Given the description of an element on the screen output the (x, y) to click on. 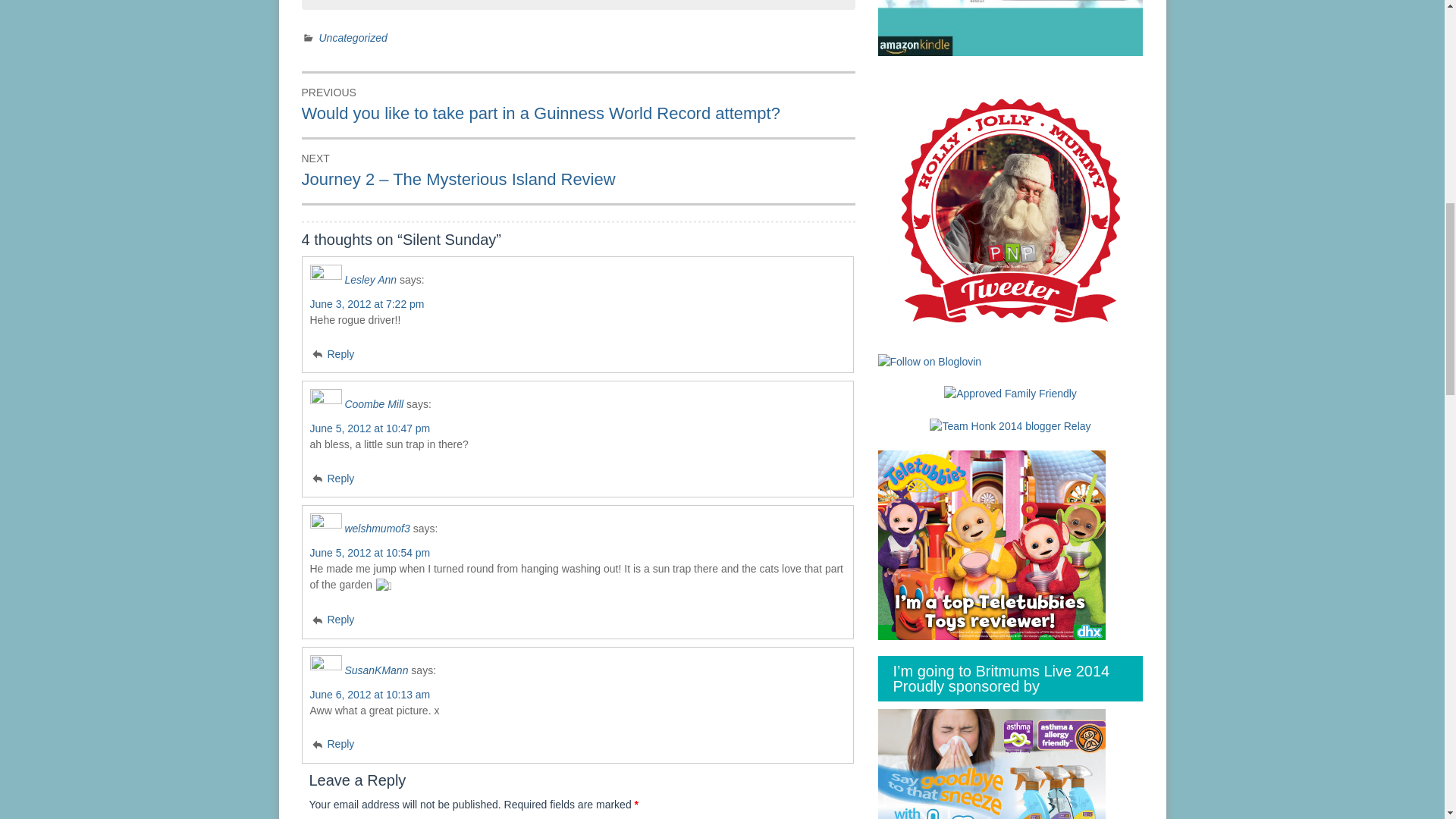
AFF Assessor Badge (1010, 393)
Reply (330, 619)
Approved Family Friendly Trustmark (1010, 393)
June 3, 2012 at 7:22 pm (365, 304)
Uncategorized (352, 37)
June 5, 2012 at 10:54 pm (368, 552)
Reply (330, 743)
SusanKMann (375, 669)
Reply (330, 354)
welshmumof3 (376, 528)
